Given the description of an element on the screen output the (x, y) to click on. 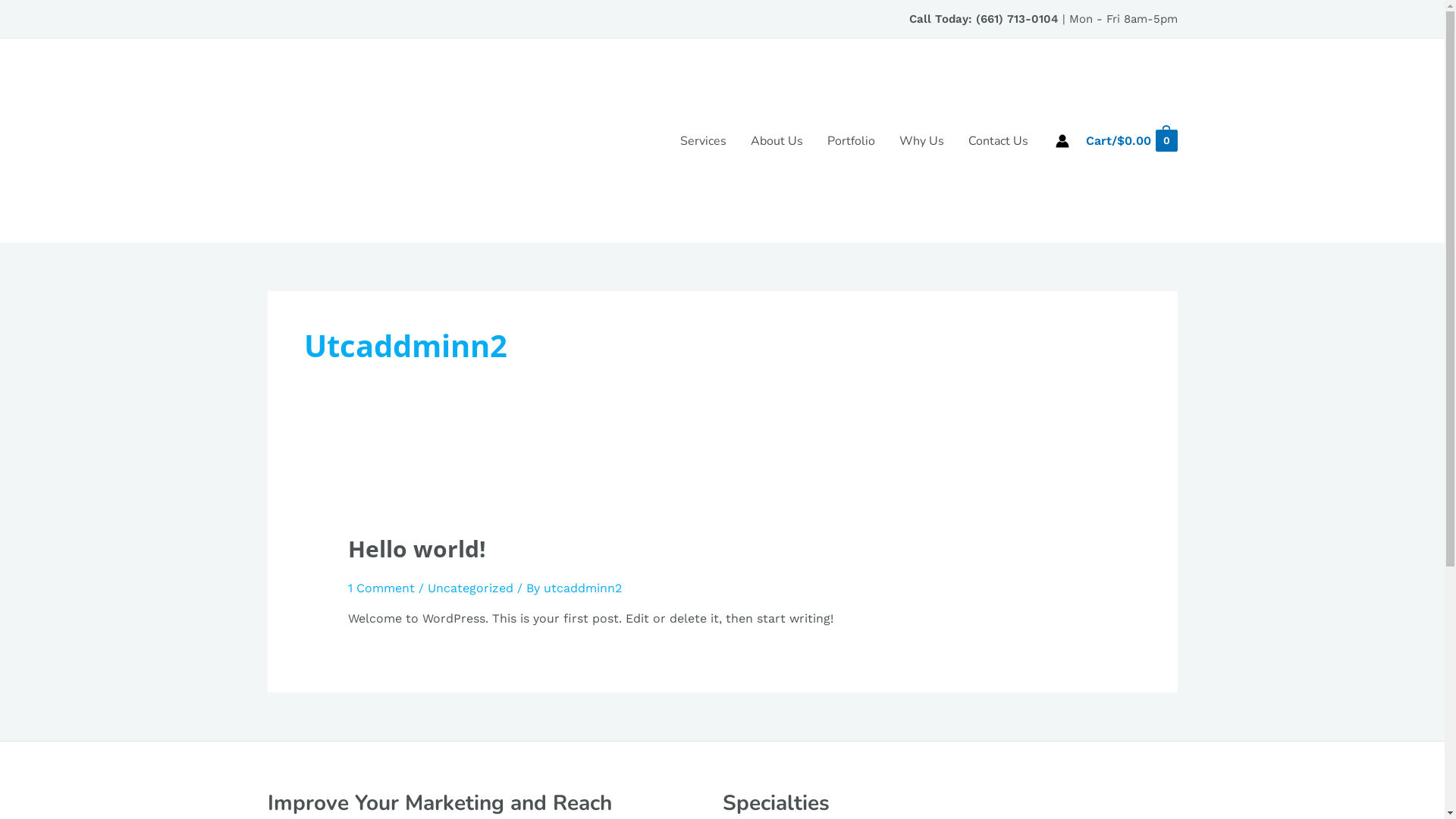
Why Us Element type: text (921, 140)
Hello world! Element type: text (417, 548)
About Us Element type: text (776, 140)
1 Comment Element type: text (381, 587)
Services Element type: text (703, 140)
(661) 713-0104 Element type: text (1016, 18)
utcaddminn2 Element type: text (582, 587)
Uncategorized Element type: text (470, 587)
Portfolio Element type: text (851, 140)
Cart/$0.00
0 Element type: text (1130, 140)
Contact Us Element type: text (998, 140)
